Given the description of an element on the screen output the (x, y) to click on. 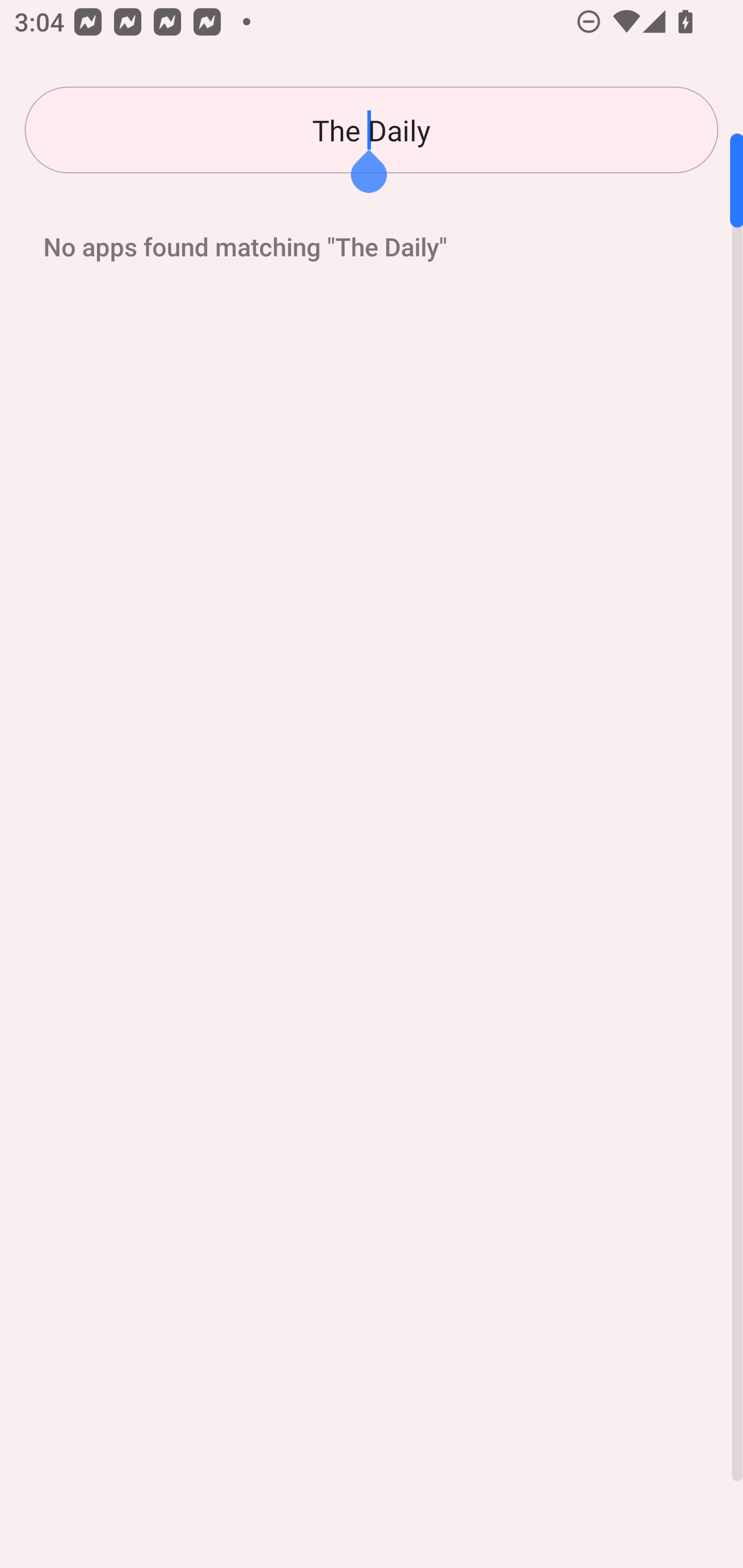
The Daily (371, 130)
